Given the description of an element on the screen output the (x, y) to click on. 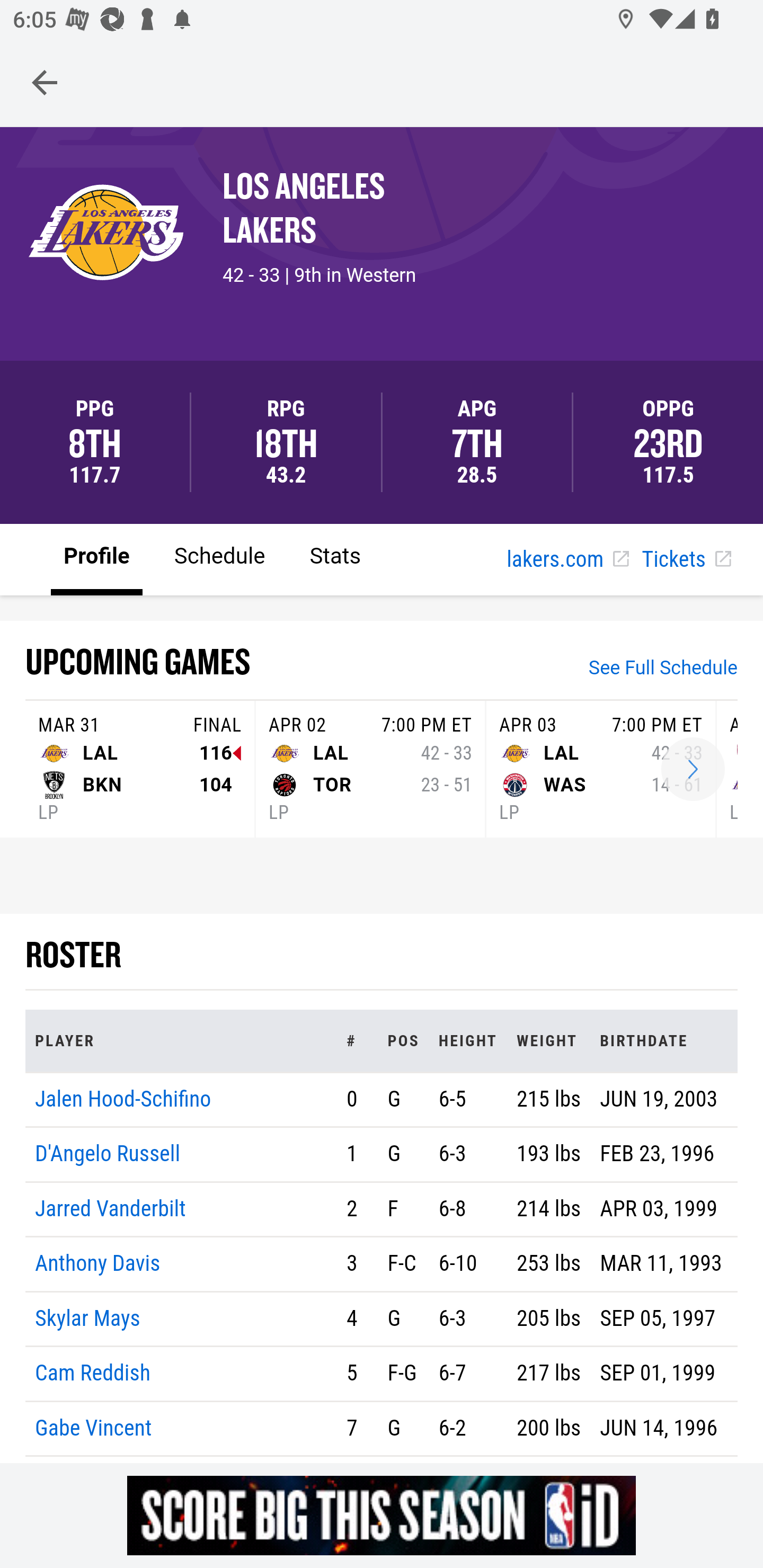
Navigate up (44, 82)
Profile (97, 558)
Schedule (219, 558)
Stats (335, 558)
lakers.com (567, 560)
Tickets (685, 560)
See Full Schedule (662, 669)
Match-up Scores (692, 769)
Jalen Hood-Schifino (123, 1098)
D'Angelo Russell (108, 1154)
Jarred Vanderbilt (110, 1207)
Anthony Davis (97, 1264)
Skylar Mays (88, 1317)
Cam Reddish (93, 1374)
Gabe Vincent (93, 1427)
g5nqqygr7owph (381, 1515)
